Given the description of an element on the screen output the (x, y) to click on. 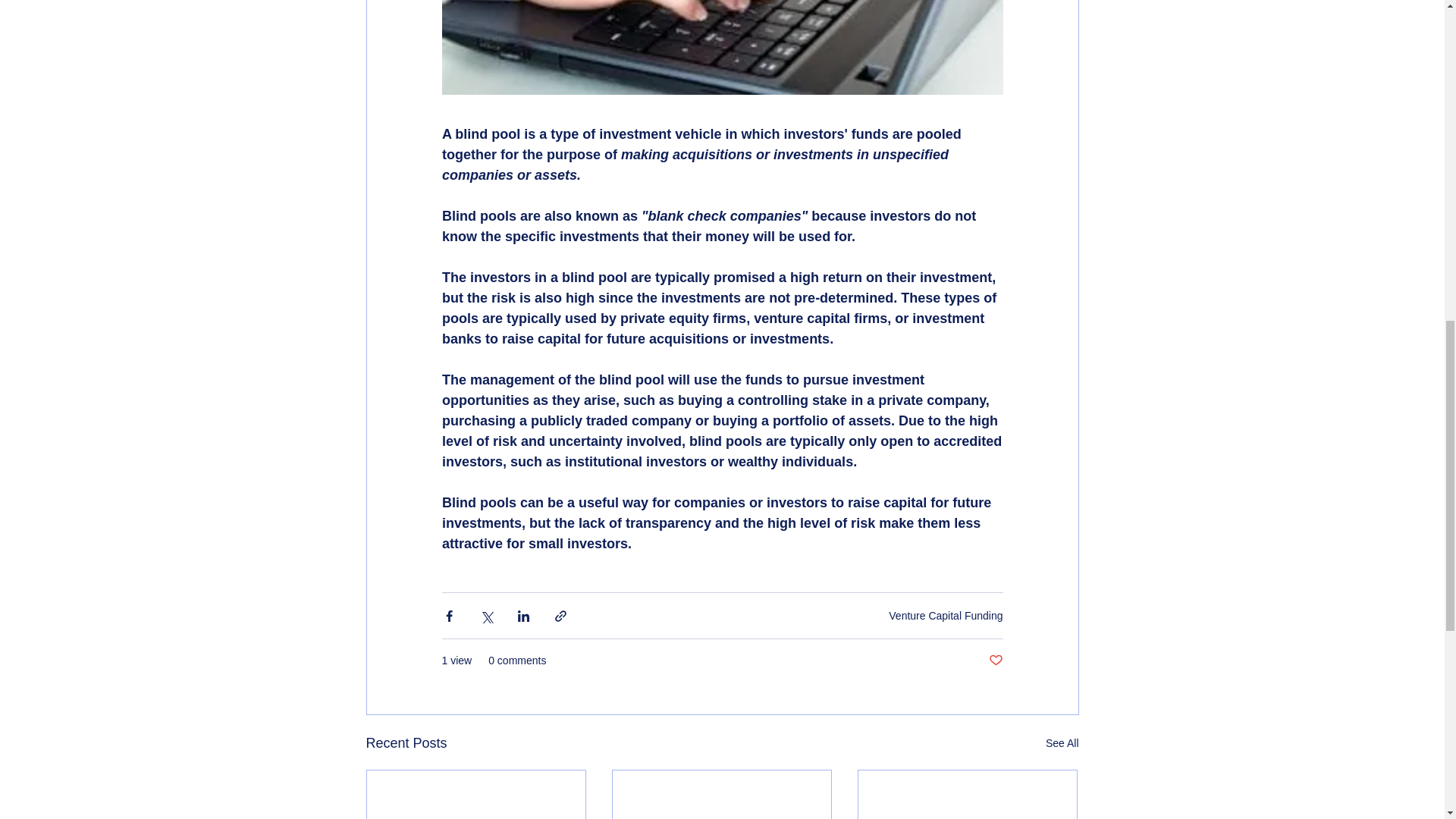
See All (1061, 743)
Venture Capital Funding (945, 615)
Post not marked as liked (995, 660)
